Given the description of an element on the screen output the (x, y) to click on. 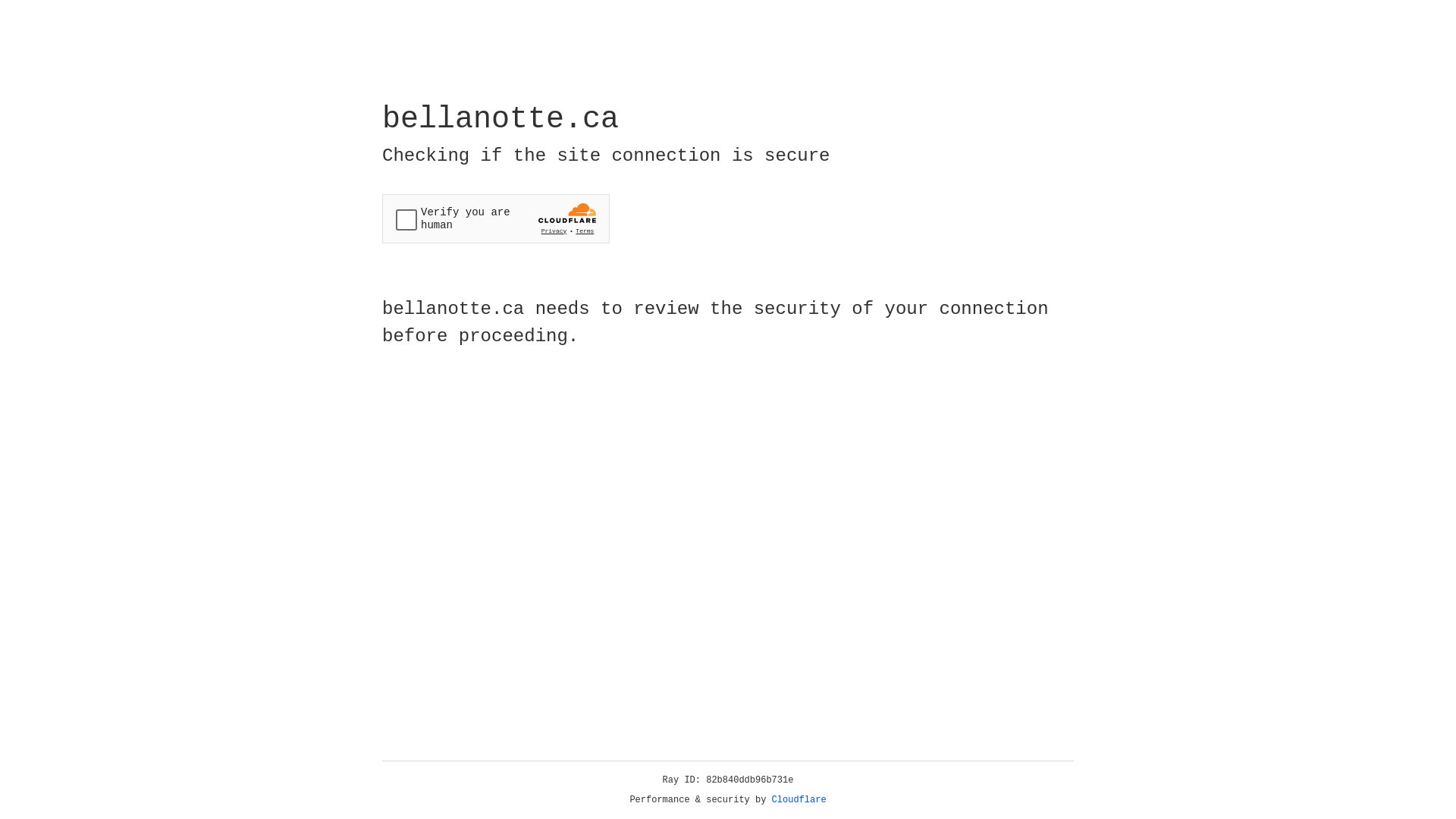
Cloudflare Element type: text (798, 799)
Widget containing a Cloudflare security challenge Element type: hover (495, 218)
